Given the description of an element on the screen output the (x, y) to click on. 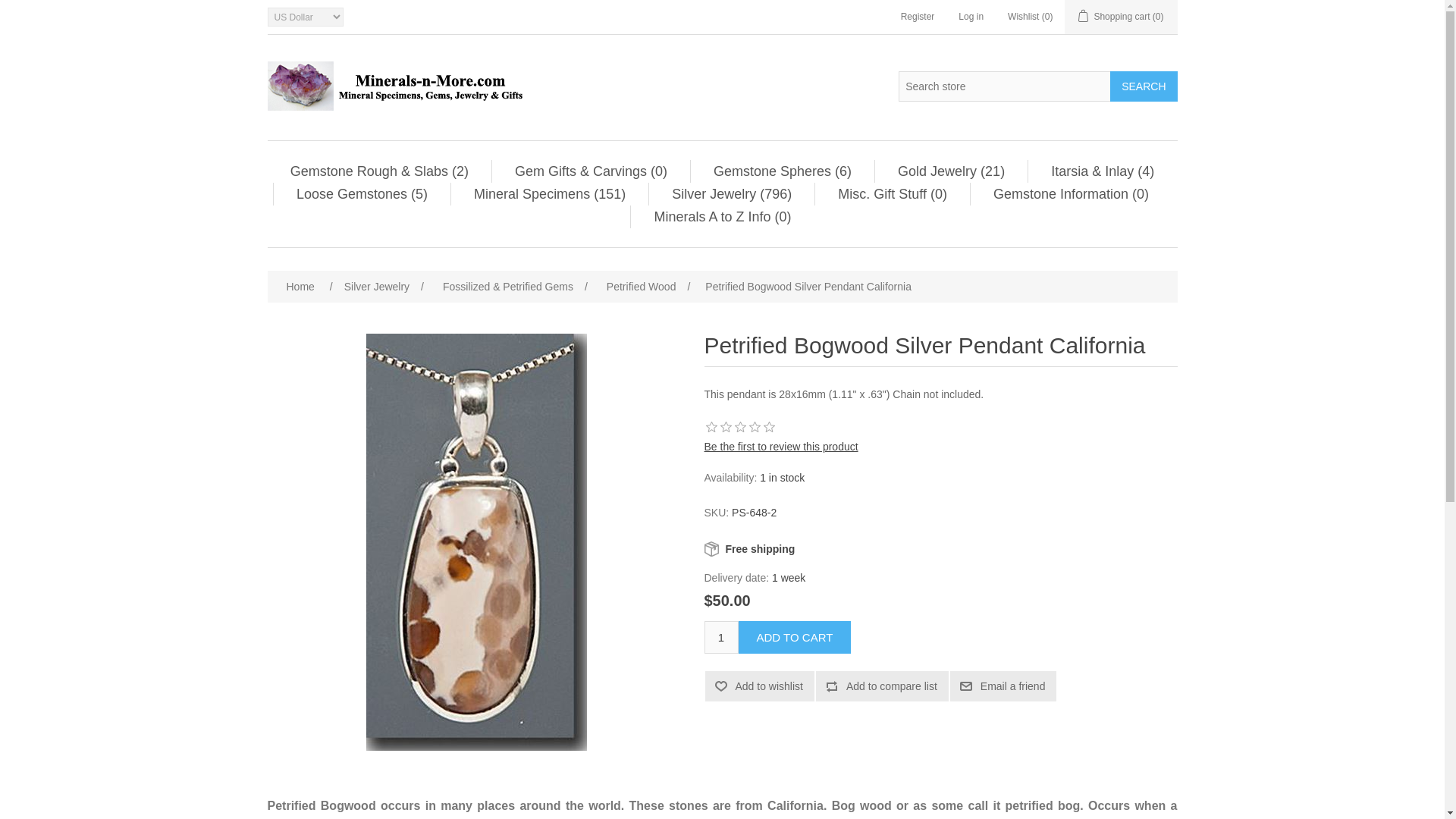
Add to wishlist (758, 685)
Search (1142, 86)
Petrified Bogwood silver Pendant (476, 542)
Add to compare list (882, 685)
Add to cart (794, 636)
Search (1142, 86)
Search (1142, 86)
Register (917, 17)
Email a friend (1003, 685)
1 (720, 636)
Log in (971, 17)
